Given the description of an element on the screen output the (x, y) to click on. 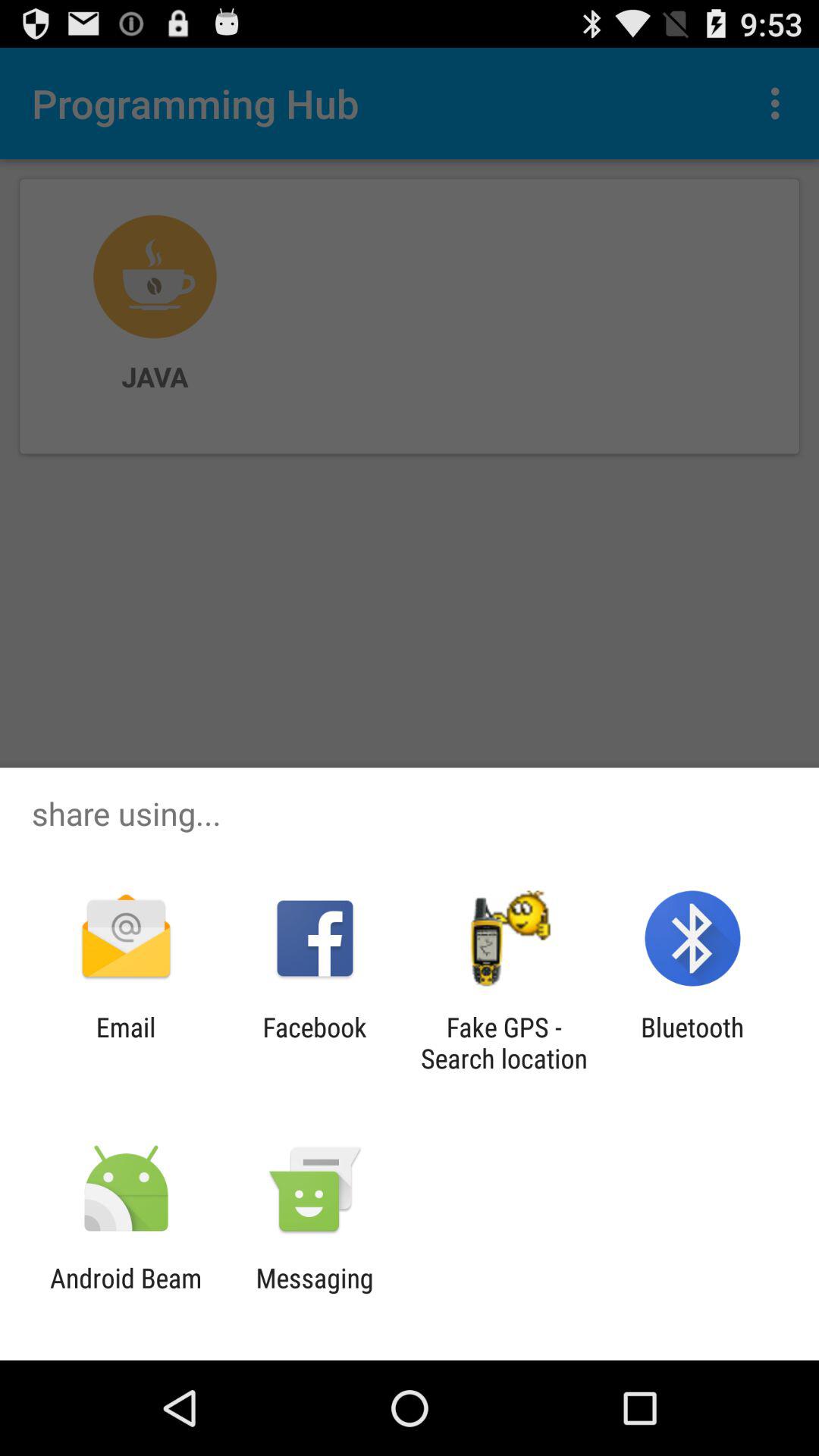
select the email icon (125, 1042)
